Given the description of an element on the screen output the (x, y) to click on. 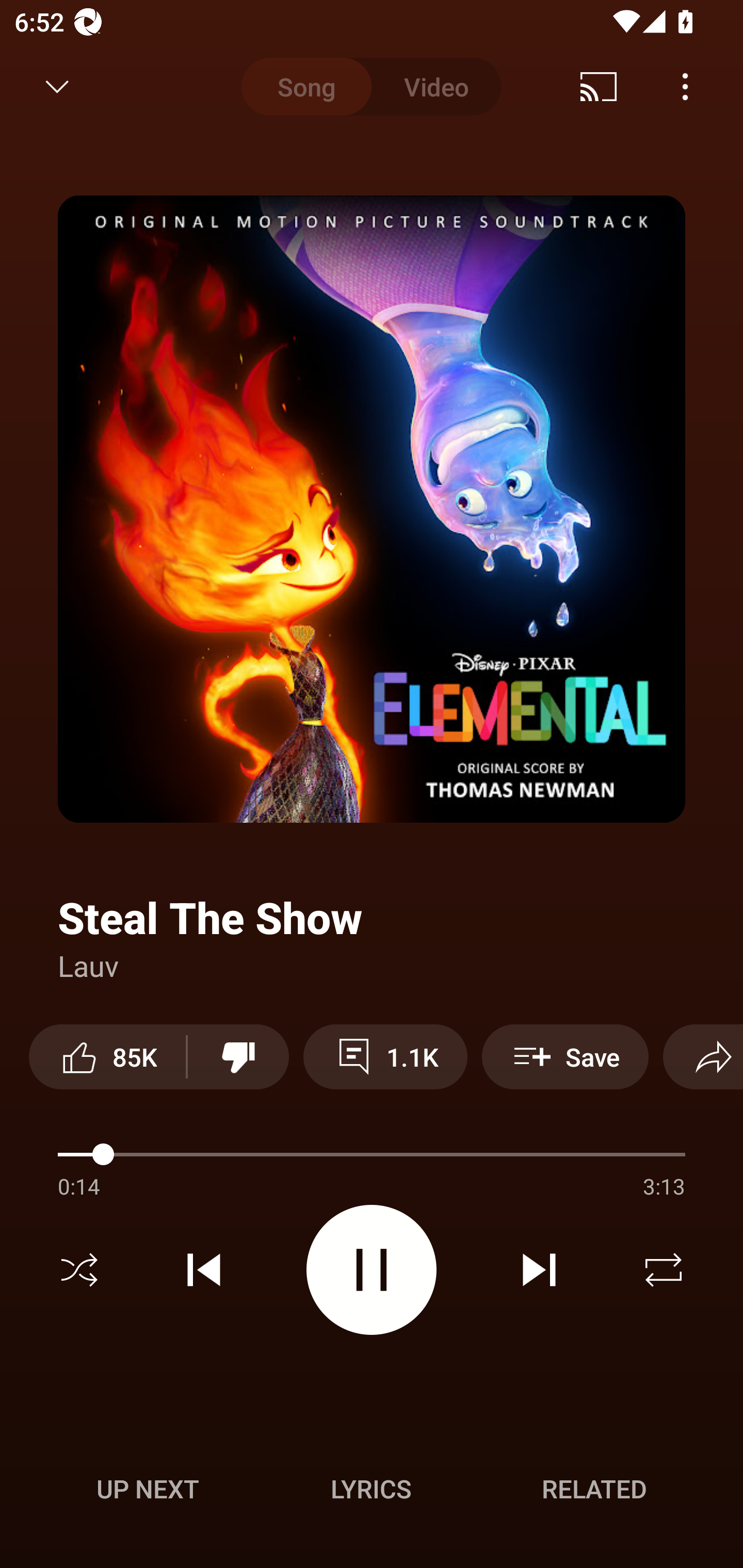
Minimize (57, 86)
Cast. Disconnected (598, 86)
Menu (684, 86)
85K like this video along with 85,792 other people (106, 1056)
Undo dislike (238, 1056)
1.1K View 1,180 comments (385, 1056)
Save Save to playlist (565, 1056)
Share (702, 1056)
Pause video (371, 1269)
Shuffle off (79, 1269)
Previous track (203, 1269)
Next track (538, 1269)
Repeat off (663, 1269)
Up next UP NEXT Lyrics LYRICS Related RELATED (371, 1491)
Lyrics LYRICS (370, 1488)
Related RELATED (594, 1488)
